Given the description of an element on the screen output the (x, y) to click on. 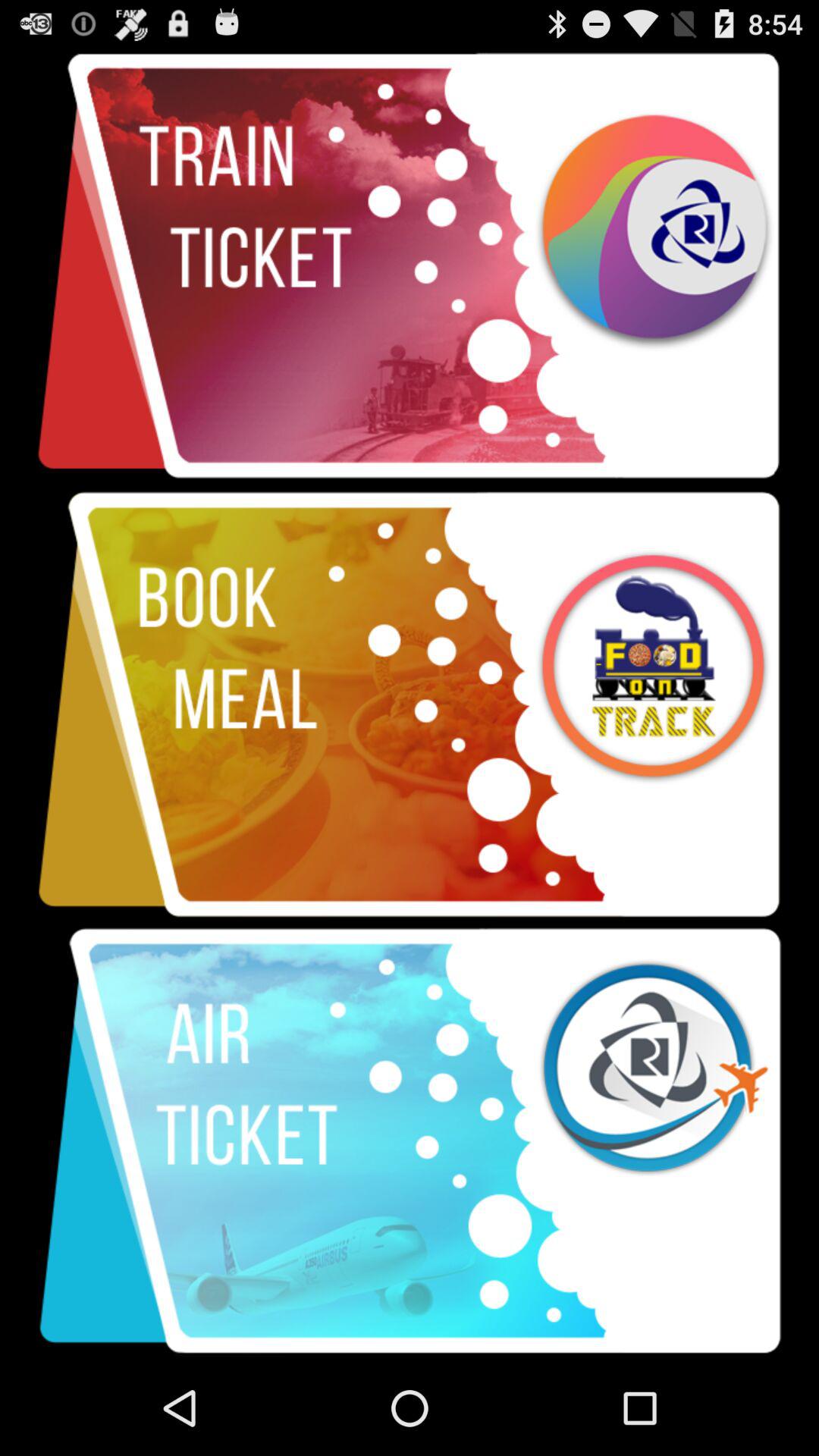
tap the item at the top (409, 266)
